Given the description of an element on the screen output the (x, y) to click on. 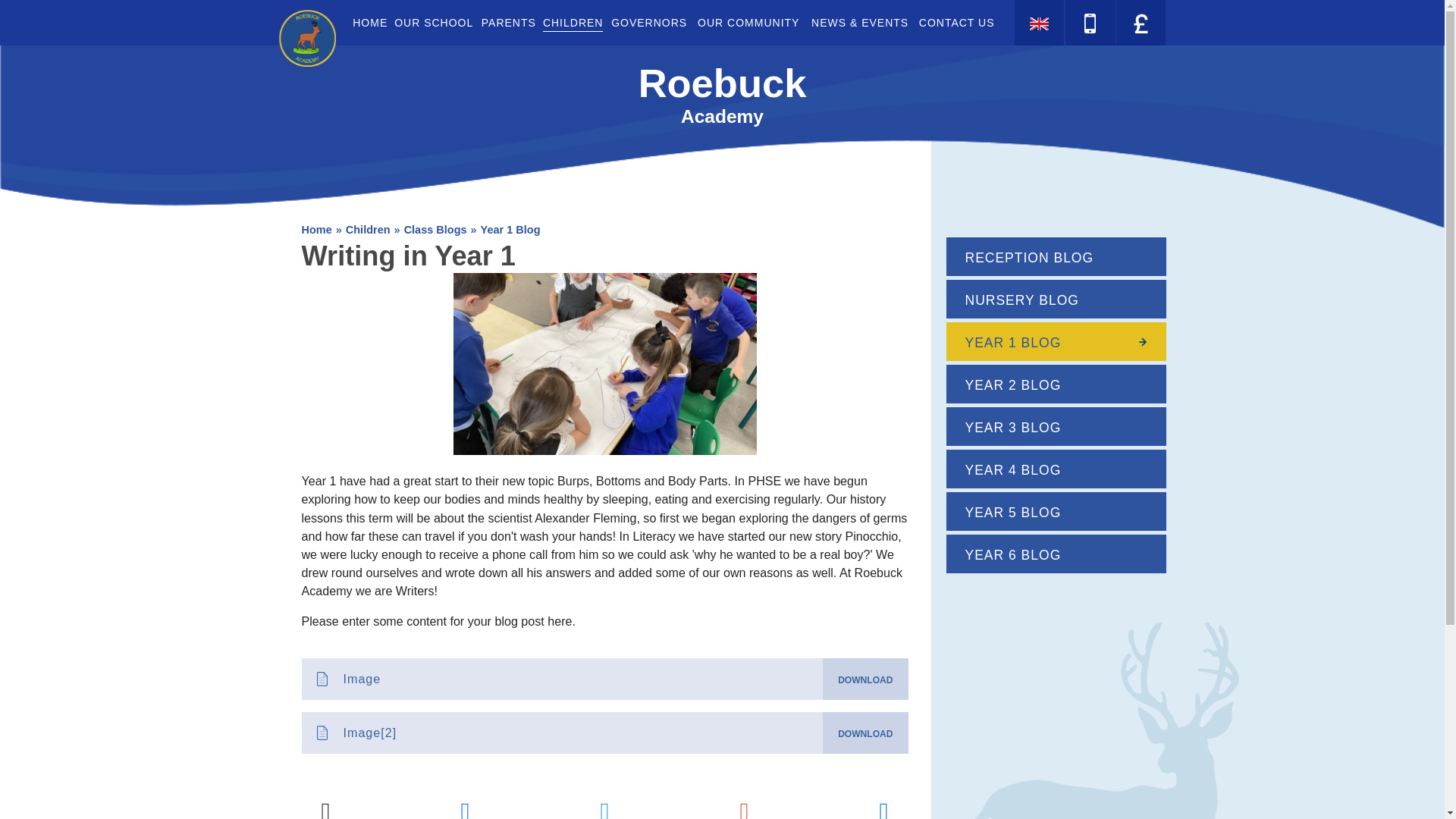
HOME (369, 22)
OUR SCHOOL (434, 22)
